Given the description of an element on the screen output the (x, y) to click on. 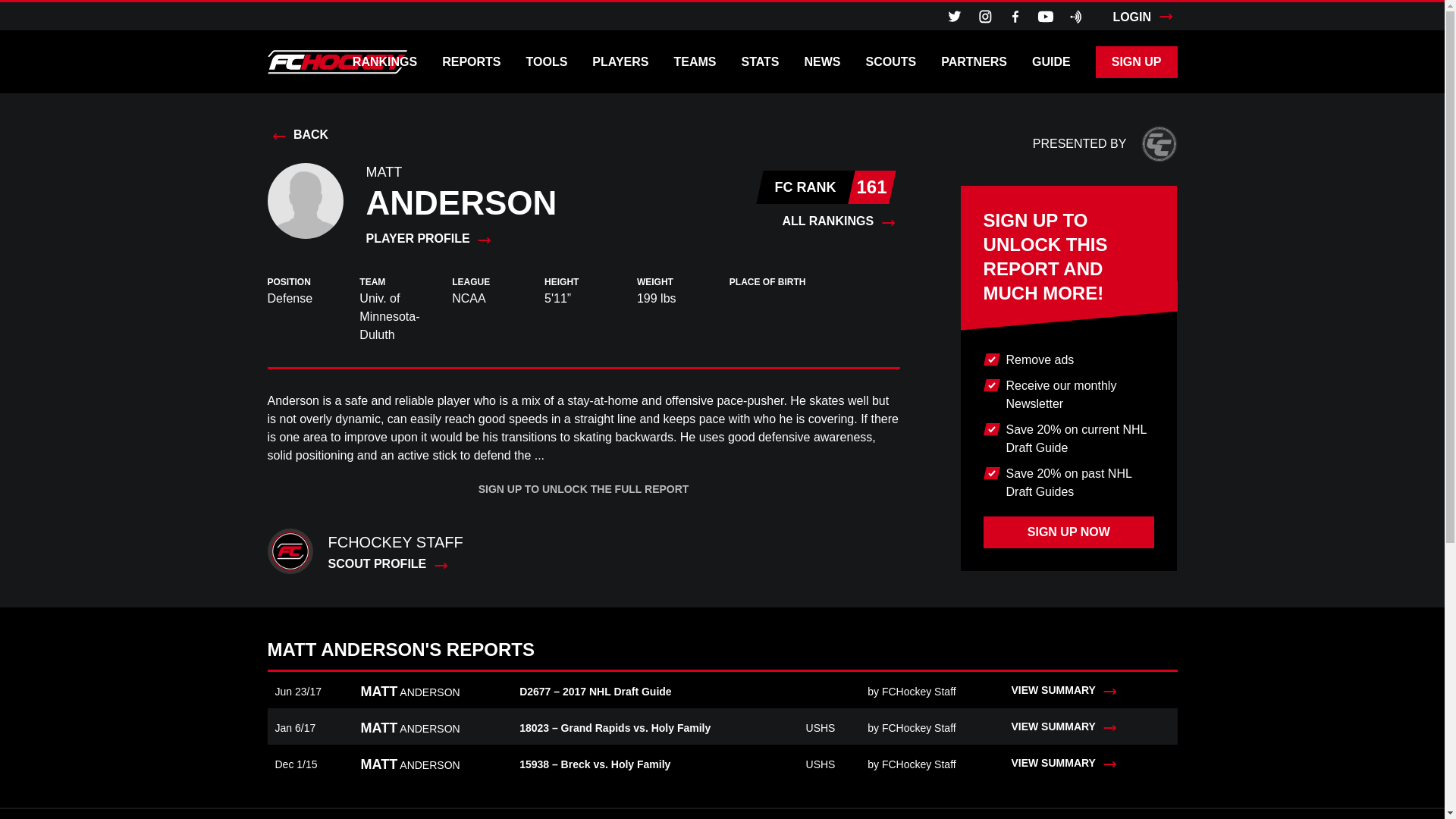
LOGIN (1144, 15)
RANKINGS (384, 61)
